Given the description of an element on the screen output the (x, y) to click on. 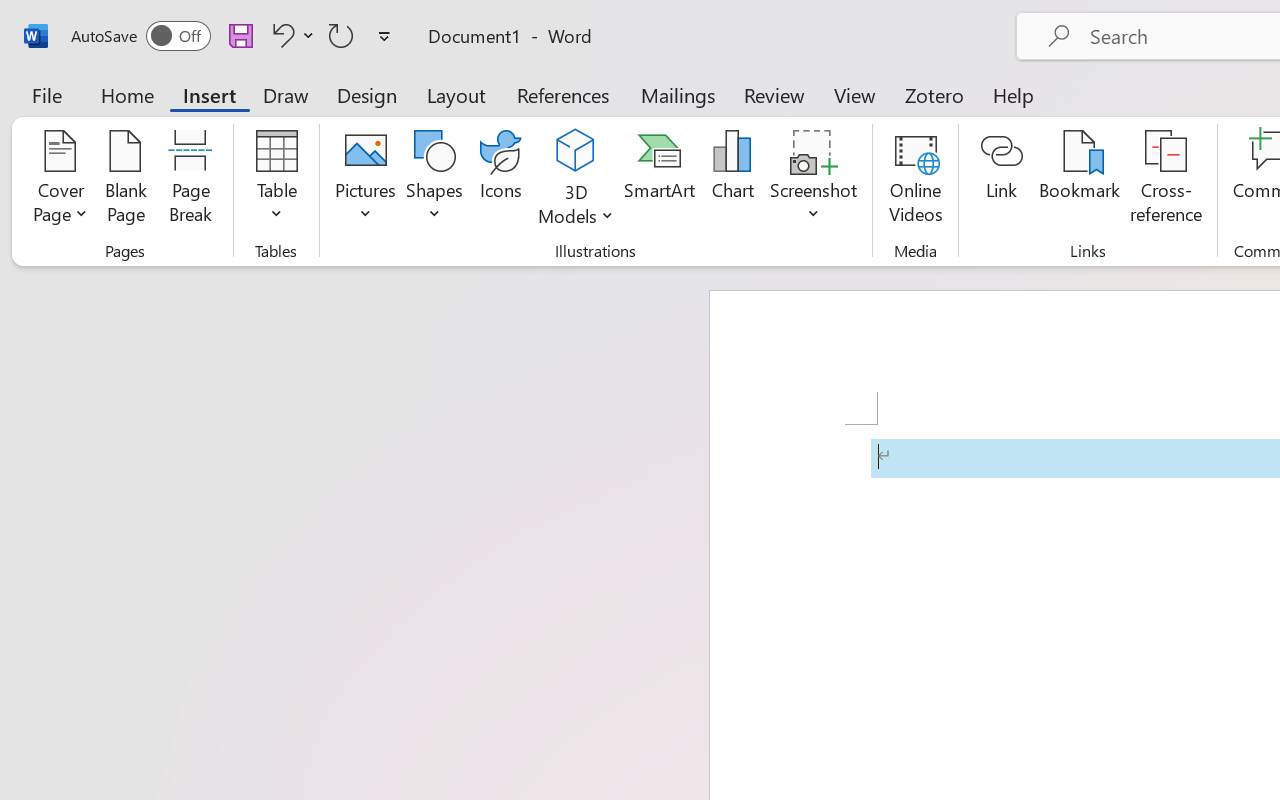
Cover Page (60, 179)
Blank Page (125, 179)
3D Models (576, 151)
Online Videos... (915, 179)
Undo Apply Quick Style (280, 35)
Icons (500, 179)
Undo Apply Quick Style (290, 35)
Table (276, 179)
